Given the description of an element on the screen output the (x, y) to click on. 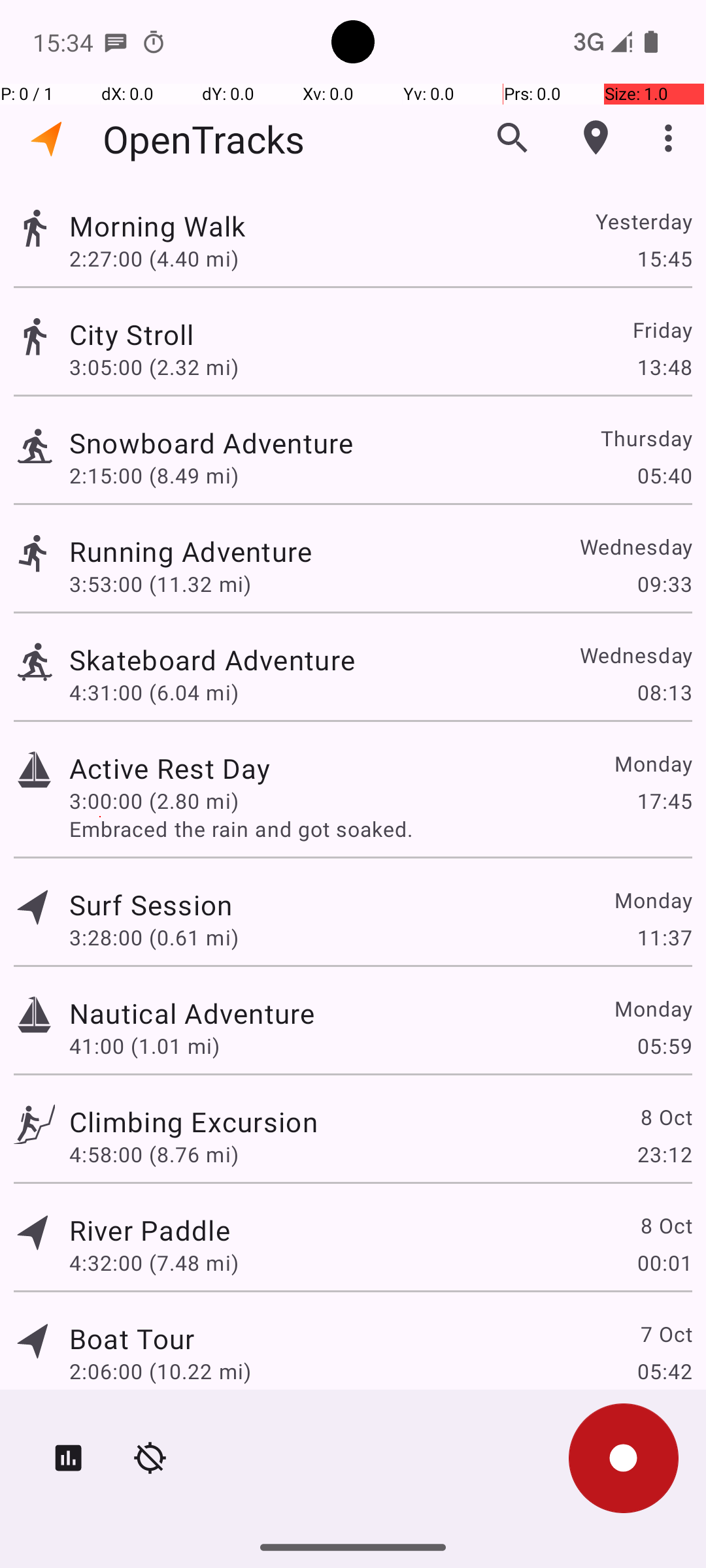
Morning Walk Element type: android.widget.TextView (157, 225)
2:27:00 (4.40 mi) Element type: android.widget.TextView (153, 258)
15:45 Element type: android.widget.TextView (664, 258)
City Stroll Element type: android.widget.TextView (131, 333)
3:05:00 (2.32 mi) Element type: android.widget.TextView (153, 366)
13:48 Element type: android.widget.TextView (664, 366)
Snowboard Adventure Element type: android.widget.TextView (210, 442)
2:15:00 (8.49 mi) Element type: android.widget.TextView (153, 475)
05:40 Element type: android.widget.TextView (664, 475)
Running Adventure Element type: android.widget.TextView (190, 550)
3:53:00 (11.32 mi) Element type: android.widget.TextView (159, 583)
09:33 Element type: android.widget.TextView (664, 583)
Skateboard Adventure Element type: android.widget.TextView (211, 659)
4:31:00 (6.04 mi) Element type: android.widget.TextView (153, 692)
08:13 Element type: android.widget.TextView (664, 692)
Active Rest Day Element type: android.widget.TextView (169, 767)
3:00:00 (2.80 mi) Element type: android.widget.TextView (153, 800)
17:45 Element type: android.widget.TextView (664, 800)
Embraced the rain and got soaked. Element type: android.widget.TextView (380, 828)
Surf Session Element type: android.widget.TextView (150, 904)
3:28:00 (0.61 mi) Element type: android.widget.TextView (153, 937)
11:37 Element type: android.widget.TextView (664, 937)
Nautical Adventure Element type: android.widget.TextView (191, 1012)
41:00 (1.01 mi) Element type: android.widget.TextView (144, 1045)
05:59 Element type: android.widget.TextView (664, 1045)
Climbing Excursion Element type: android.widget.TextView (193, 1121)
4:58:00 (8.76 mi) Element type: android.widget.TextView (153, 1154)
23:12 Element type: android.widget.TextView (664, 1154)
River Paddle Element type: android.widget.TextView (149, 1229)
4:32:00 (7.48 mi) Element type: android.widget.TextView (153, 1262)
00:01 Element type: android.widget.TextView (664, 1262)
Boat Tour Element type: android.widget.TextView (131, 1337)
2:06:00 (10.22 mi) Element type: android.widget.TextView (159, 1370)
05:42 Element type: android.widget.TextView (664, 1370)
